Given the description of an element on the screen output the (x, y) to click on. 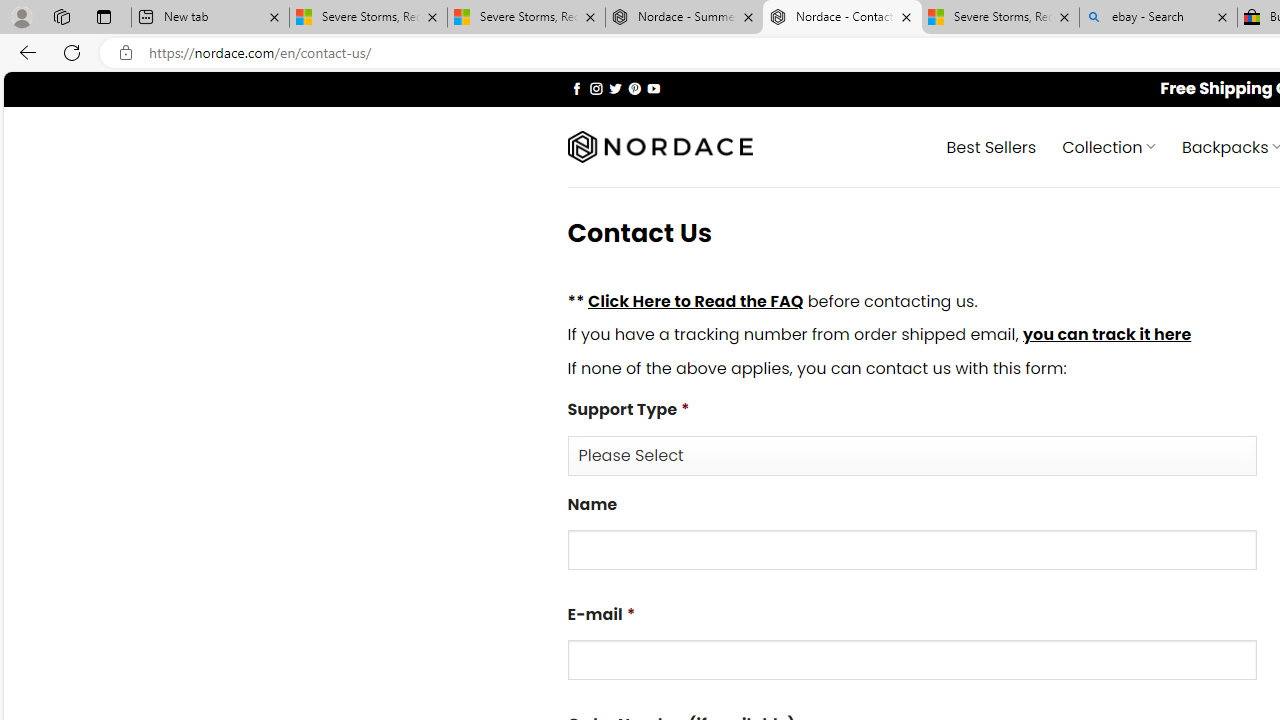
you can track it here (1106, 335)
E-mail* (911, 660)
Click Here to Read the FAQ (695, 300)
Support Type* (911, 454)
Name (911, 549)
  Best Sellers (990, 146)
 Best Sellers (990, 146)
